Given the description of an element on the screen output the (x, y) to click on. 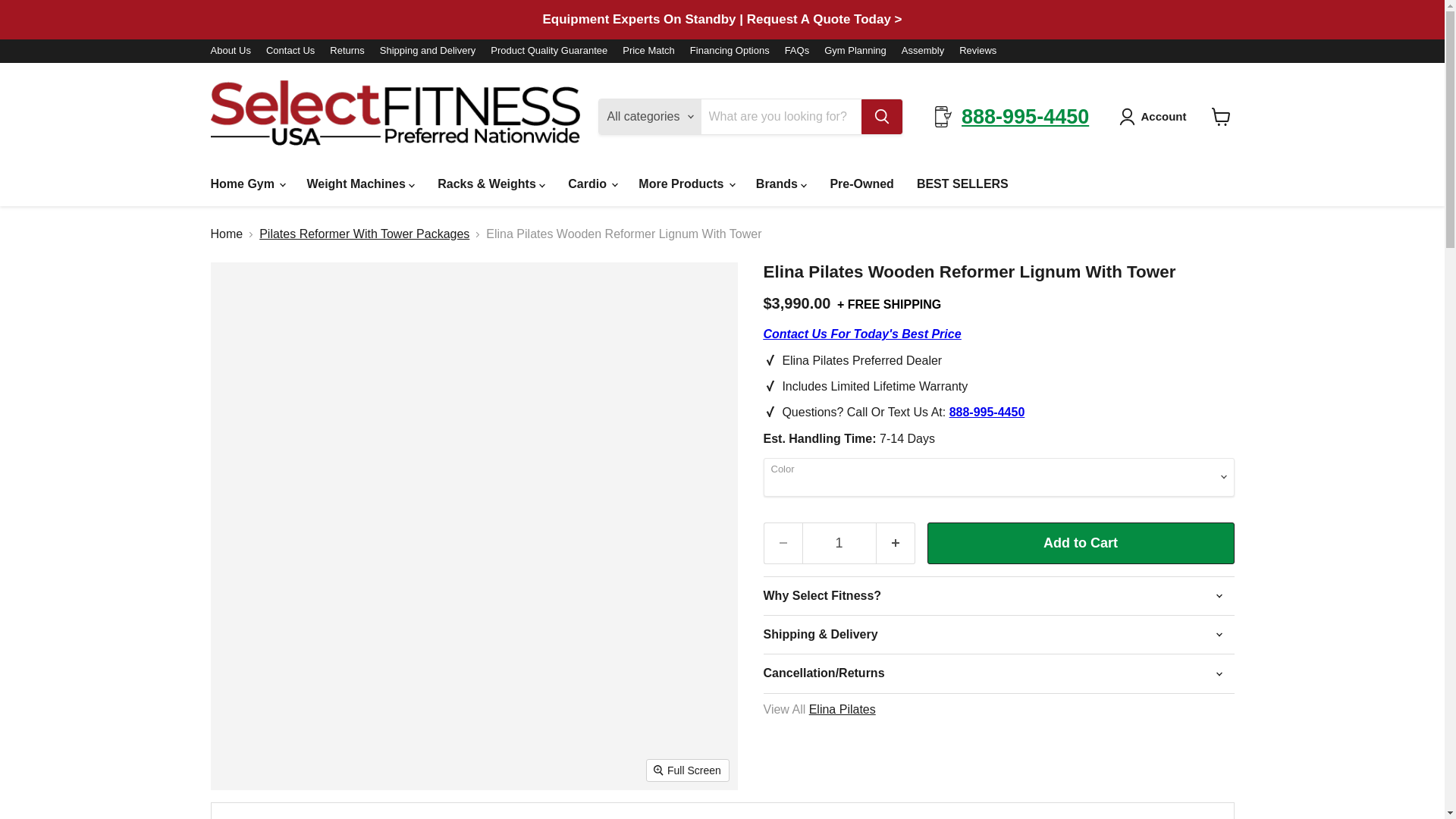
Returns (347, 50)
Price Match (649, 50)
View cart (1221, 116)
Reviews (977, 50)
1 (839, 543)
Click To Call 888-995-4450 (987, 411)
Assembly (922, 50)
Financing Options (730, 50)
FAQs (796, 50)
Click To Call Us (1024, 116)
Shipping and Delivery (428, 50)
About Us (230, 50)
Product Quality Guarantee (548, 50)
Contact Us (290, 50)
Click To Call 888-995-4450 (861, 333)
